Given the description of an element on the screen output the (x, y) to click on. 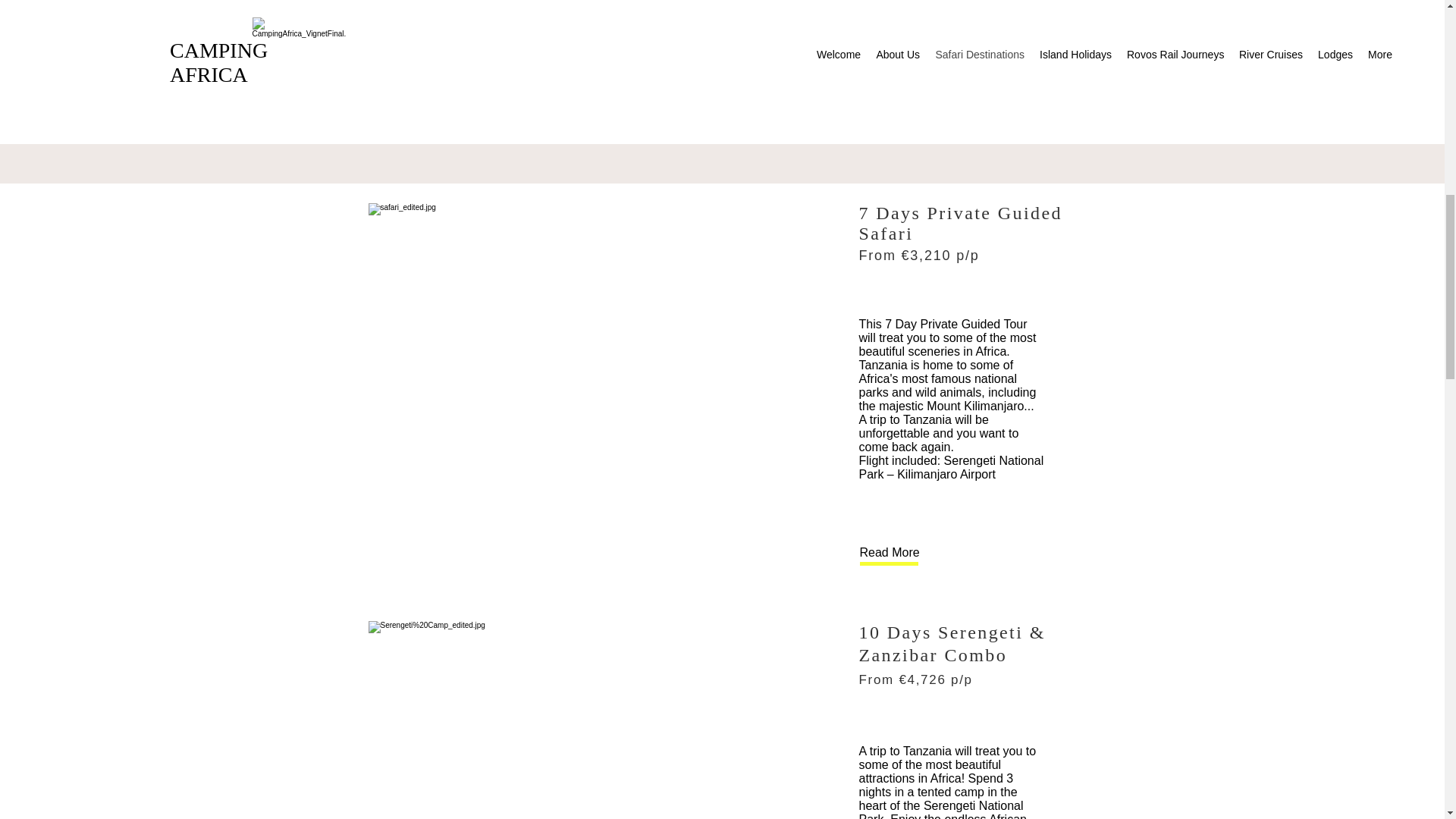
Read More (909, 552)
Send Enquiry (818, 72)
Map (722, 72)
Read More (625, 72)
